Given the description of an element on the screen output the (x, y) to click on. 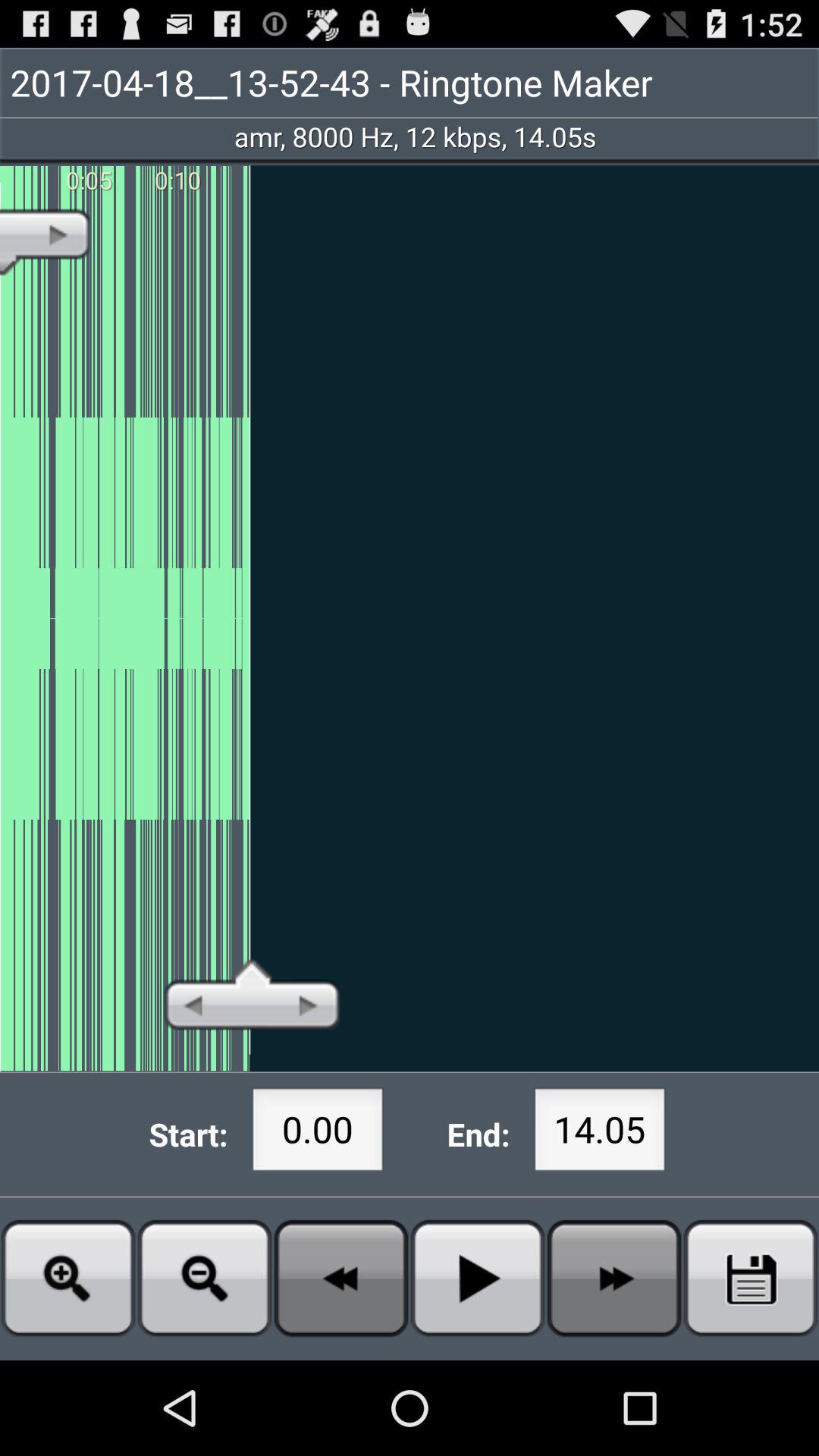
go next page (614, 1278)
